Given the description of an element on the screen output the (x, y) to click on. 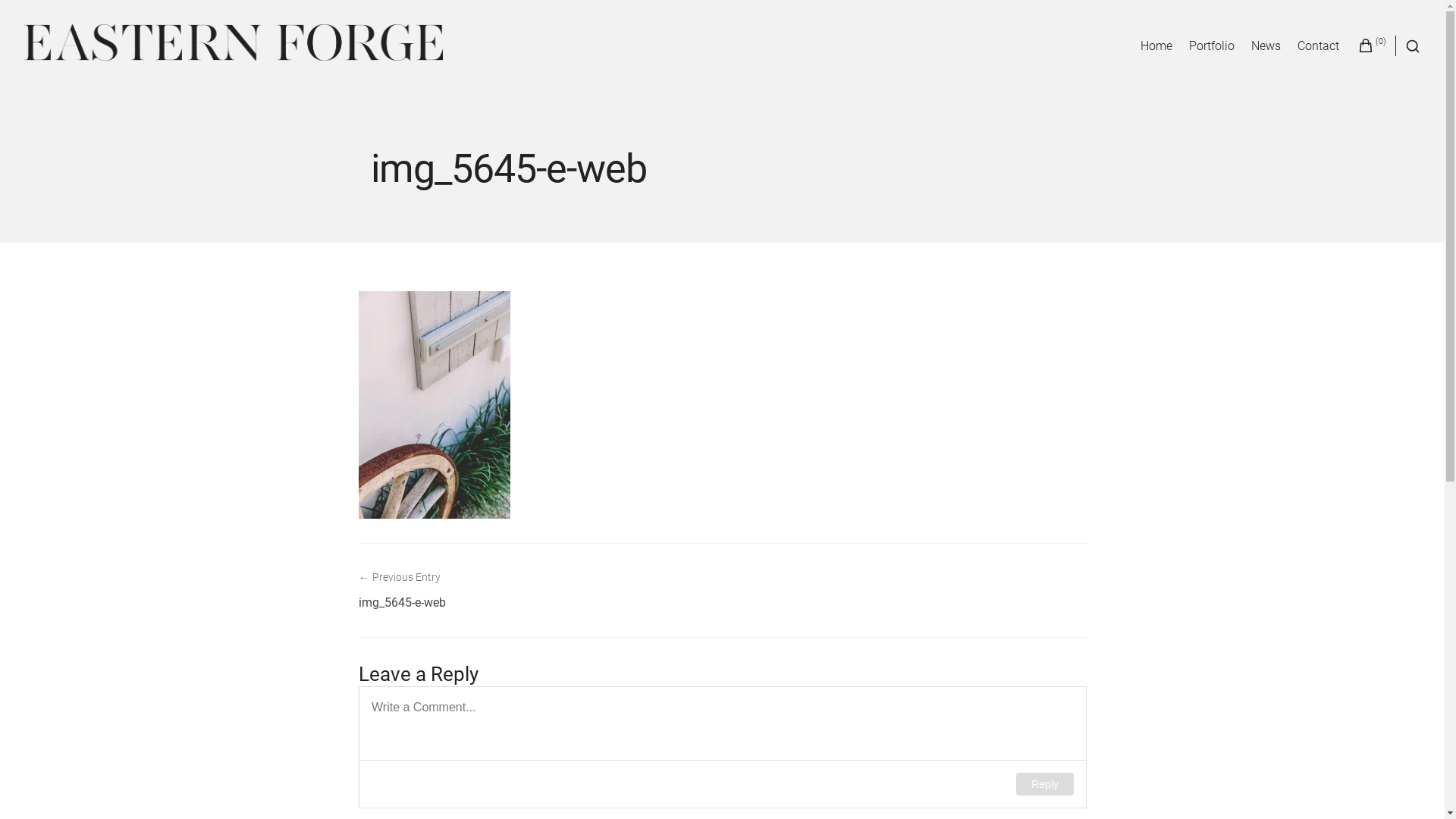
0 Element type: text (1371, 44)
Open a search form in a modal window Element type: text (1407, 44)
News Element type: text (1265, 44)
Home Element type: text (1156, 44)
Previous Entry
img_5645-e-web Element type: text (539, 588)
Comment Form Element type: hover (721, 747)
Contact Element type: text (1318, 44)
Portfolio Element type: text (1211, 44)
